Given the description of an element on the screen output the (x, y) to click on. 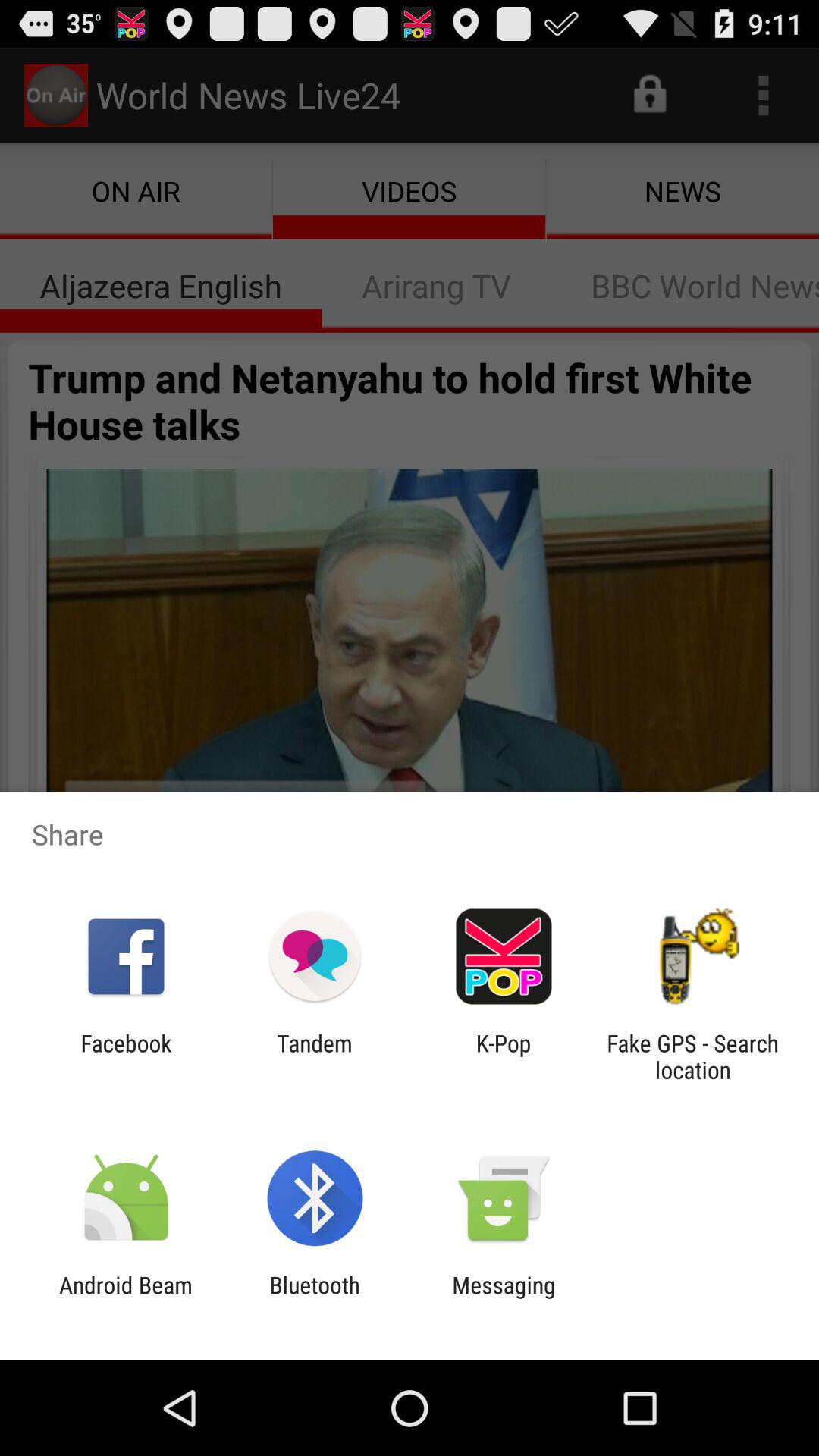
open item next to bluetooth (125, 1298)
